Given the description of an element on the screen output the (x, y) to click on. 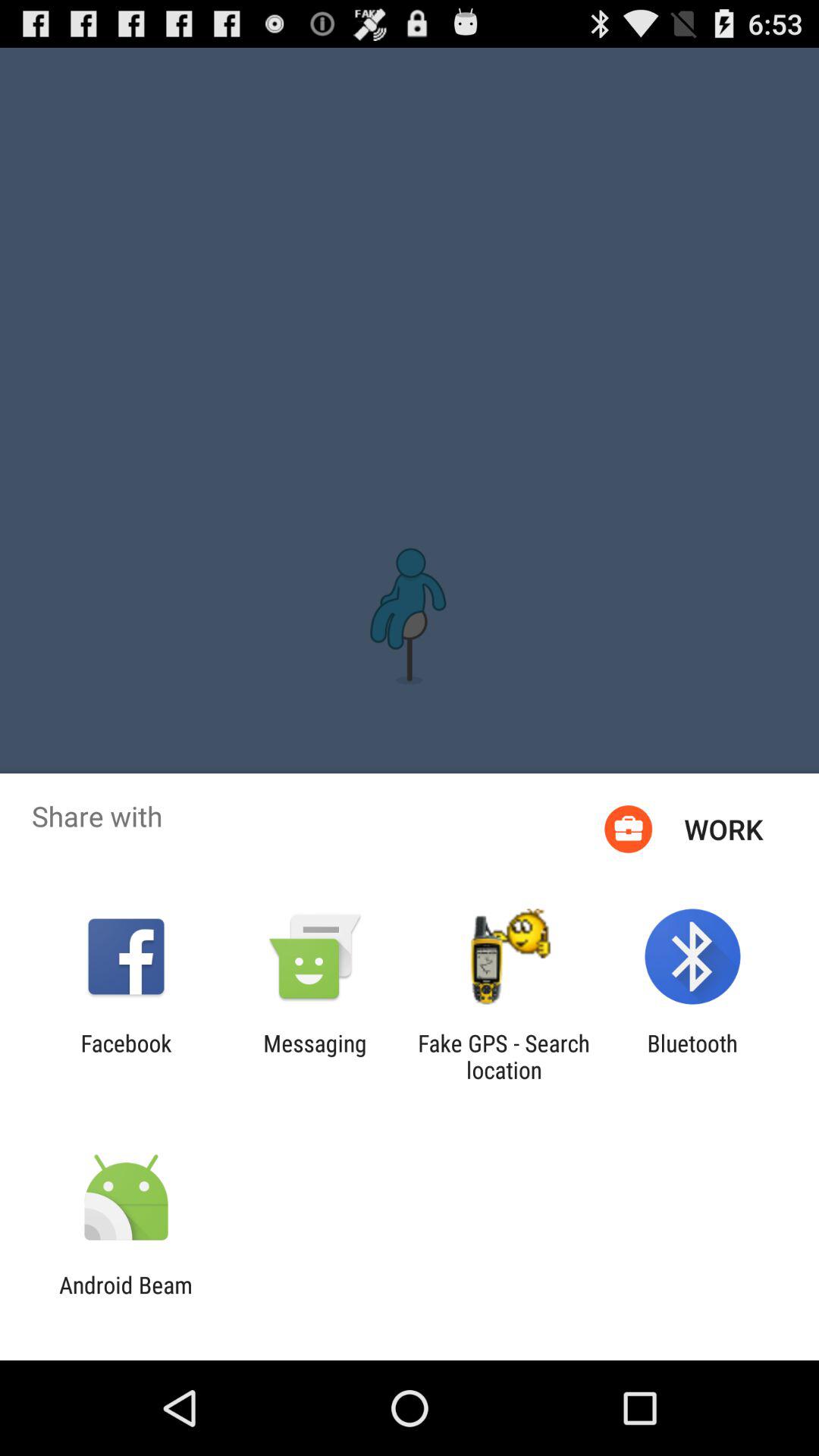
choose the fake gps search app (503, 1056)
